Given the description of an element on the screen output the (x, y) to click on. 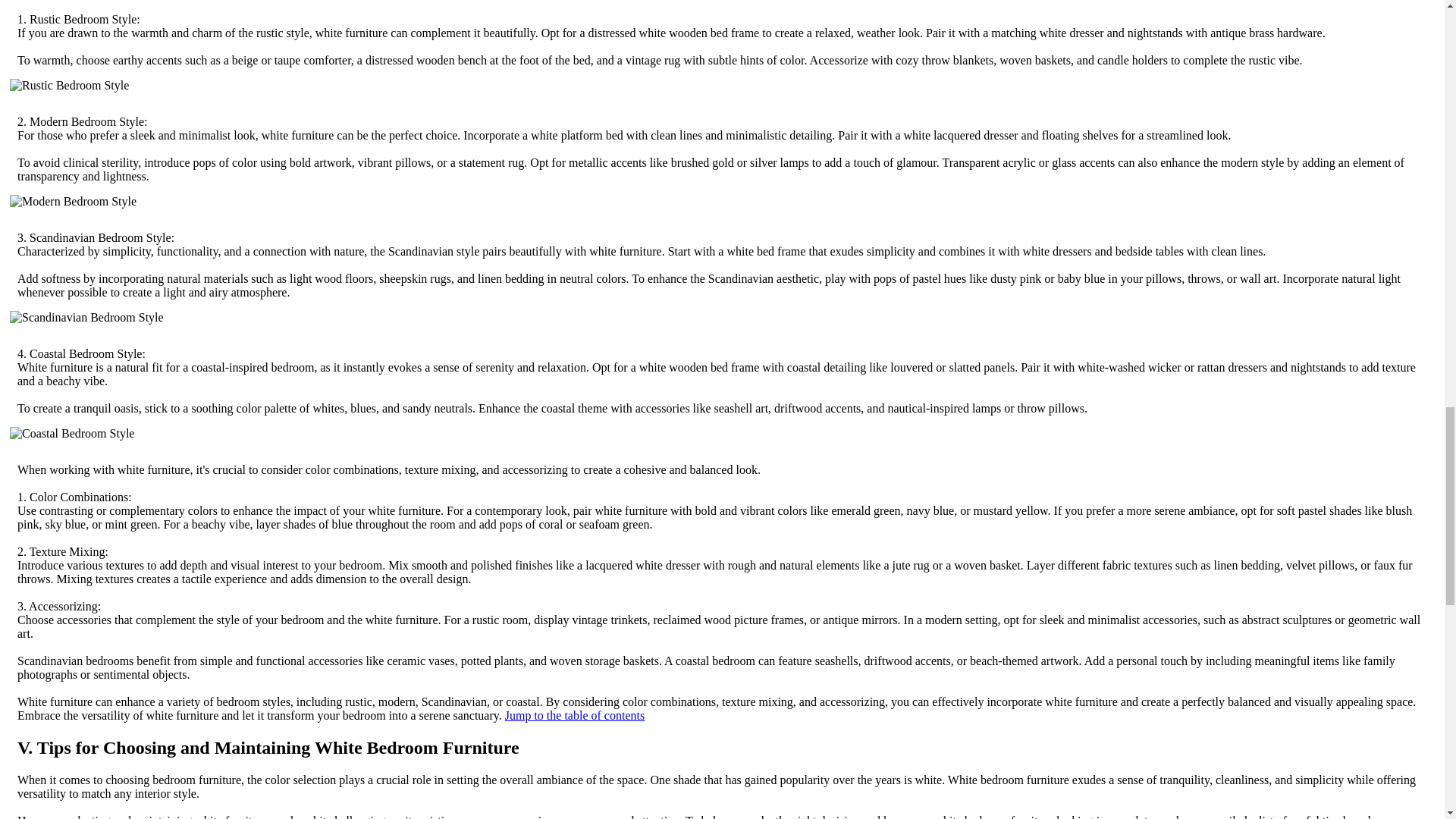
Jump to the table of contents (575, 715)
